Given the description of an element on the screen output the (x, y) to click on. 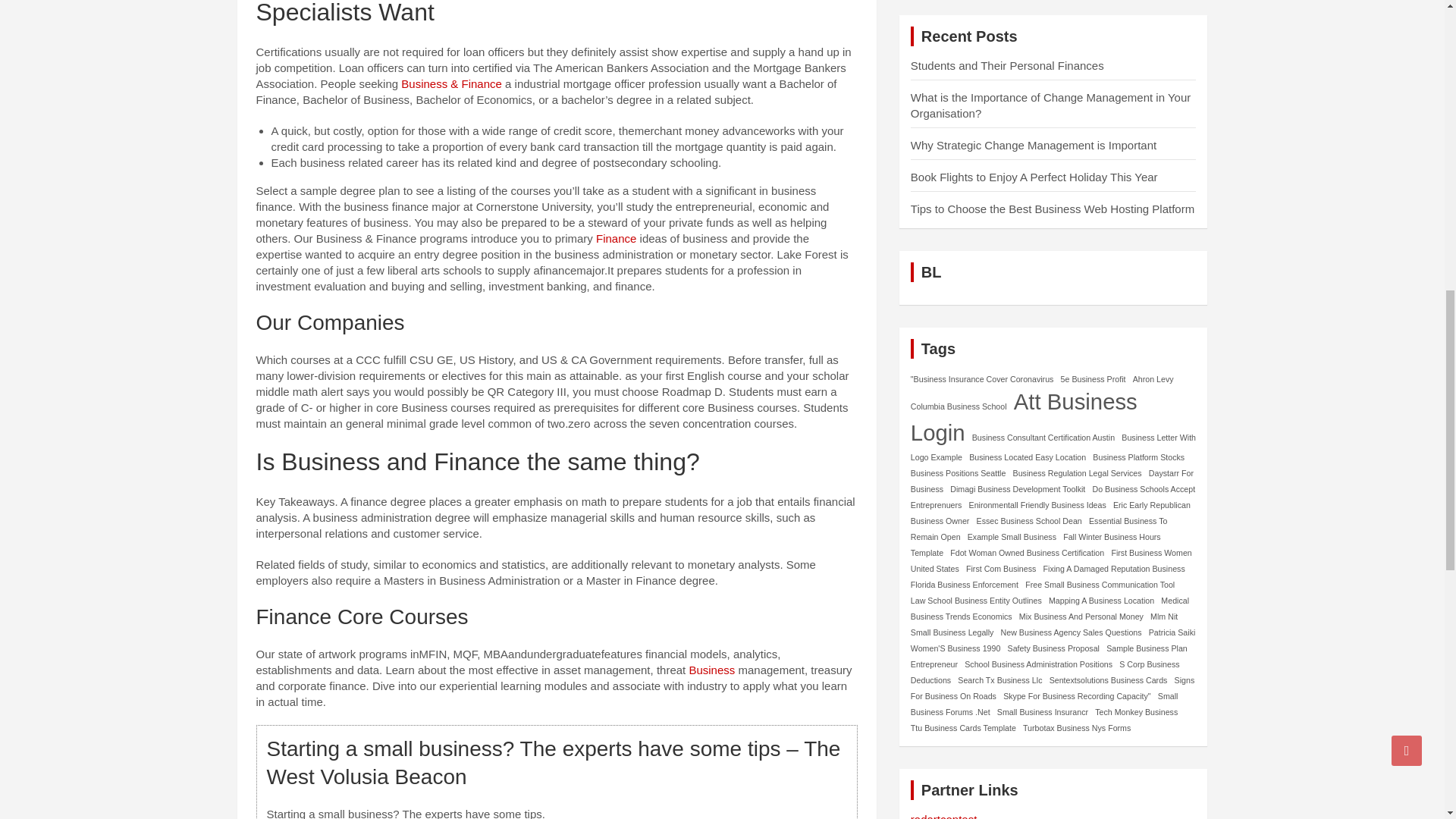
Why Strategic Change Management is Important (1033, 144)
Finance (615, 237)
Business (711, 669)
Students and Their Personal Finances (1007, 65)
